Given the description of an element on the screen output the (x, y) to click on. 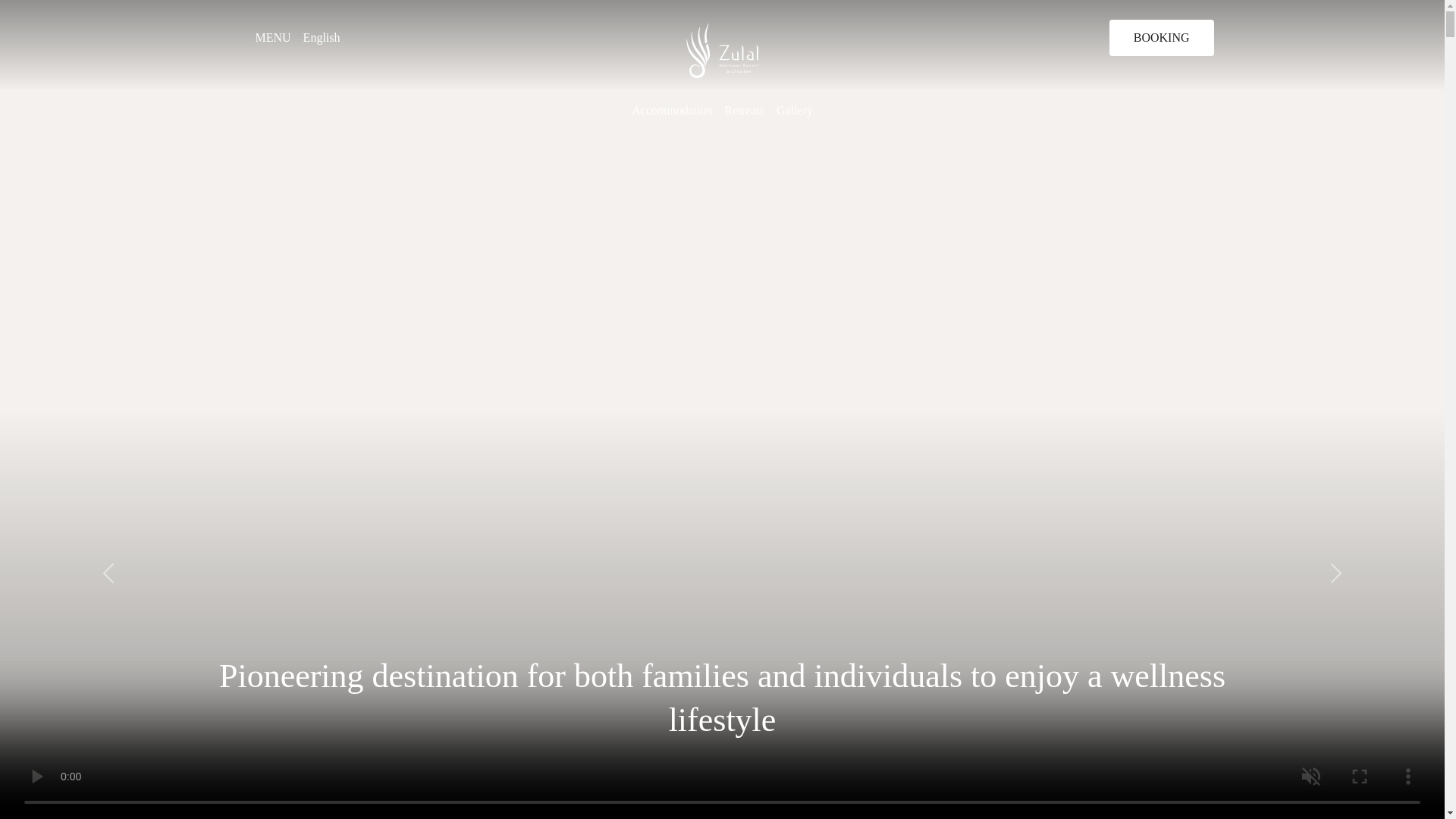
English (329, 37)
Gallery (794, 110)
BOOKING (1161, 37)
Retreats (744, 110)
Accommodation (672, 110)
